Given the description of an element on the screen output the (x, y) to click on. 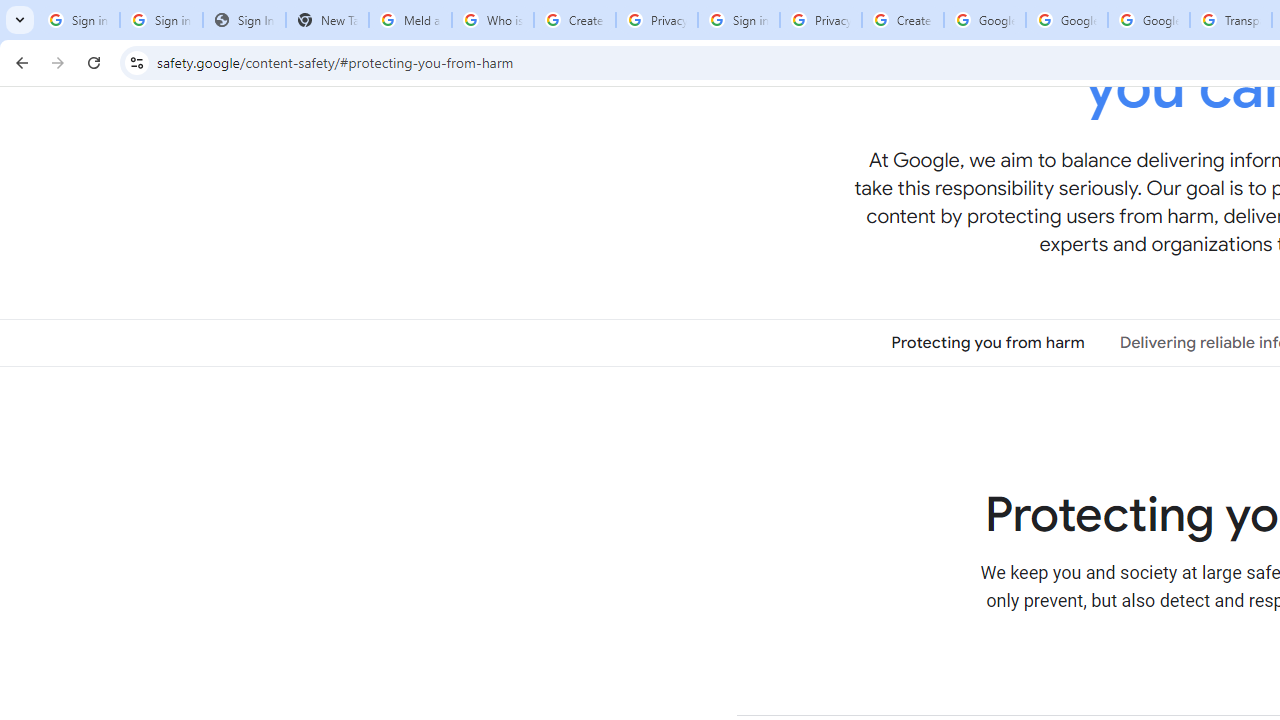
Create your Google Account (574, 20)
Sign in - Google Accounts (161, 20)
Sign In - USA TODAY (244, 20)
Sign in - Google Accounts (738, 20)
